Given the description of an element on the screen output the (x, y) to click on. 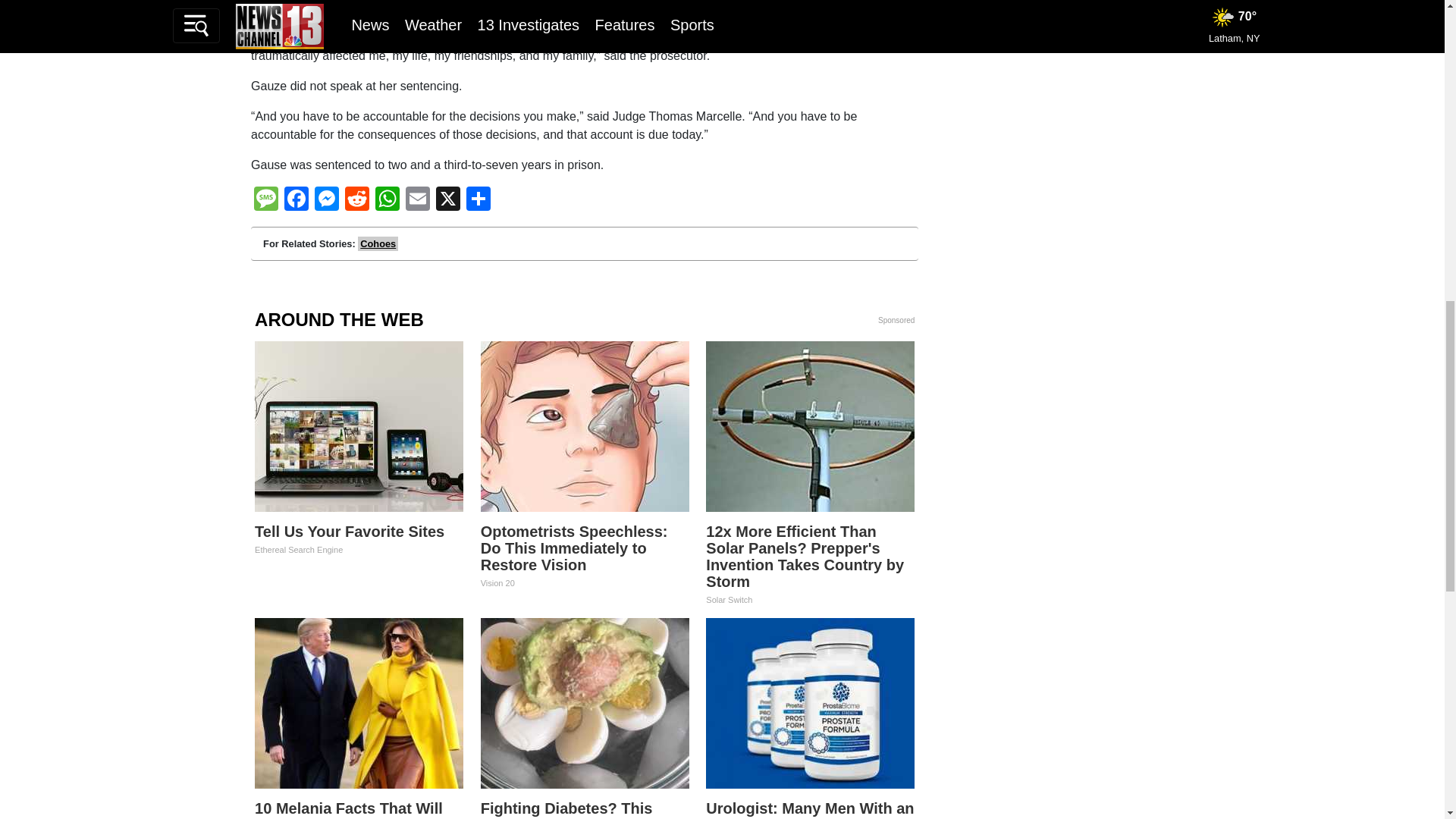
Reddit (357, 200)
Message (265, 200)
X (447, 200)
Messenger (326, 200)
Email (417, 200)
WhatsApp (387, 200)
Facebook (296, 200)
